Given the description of an element on the screen output the (x, y) to click on. 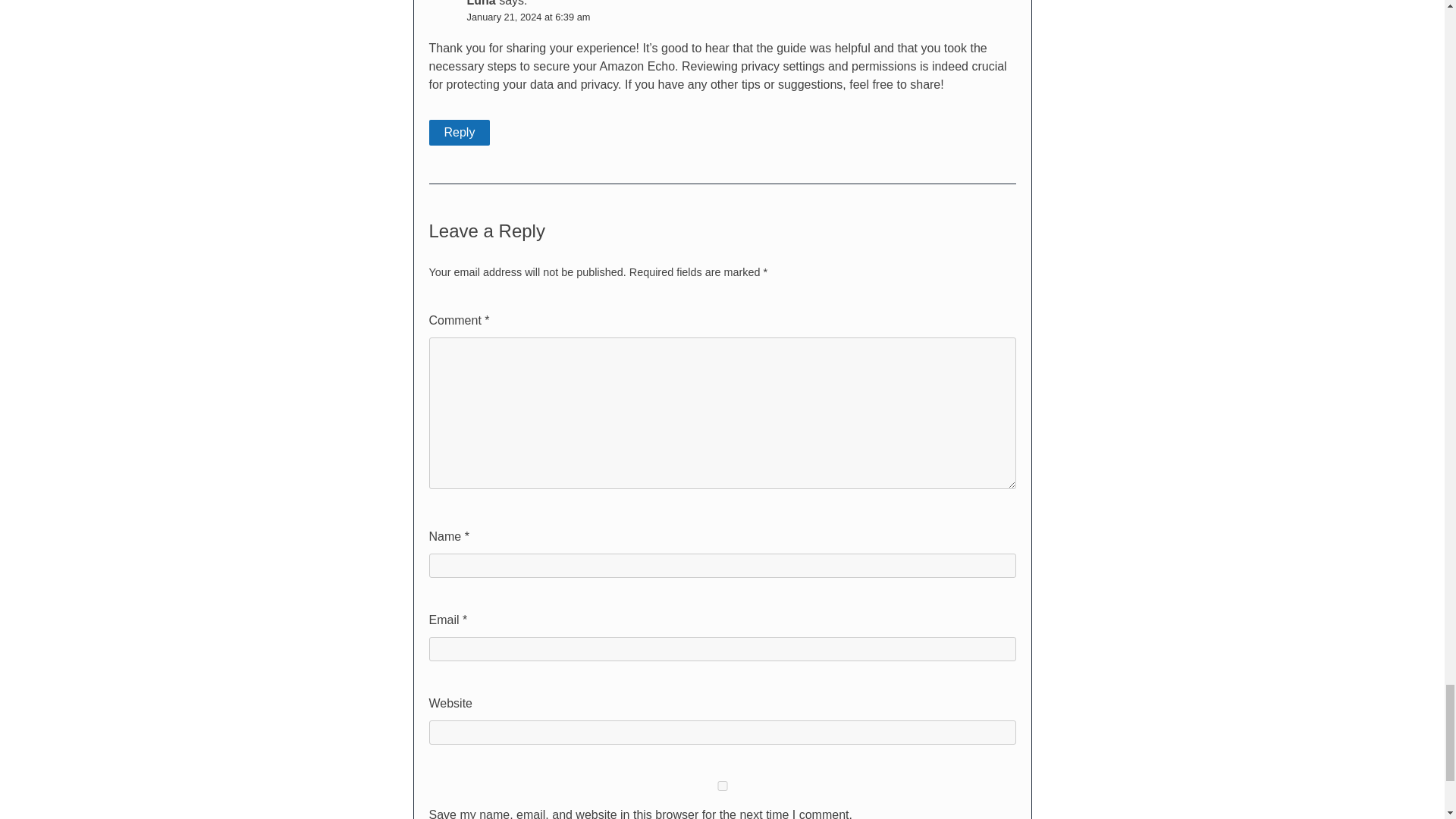
January 21, 2024 at 6:39 am (529, 16)
yes (722, 786)
Reply (459, 132)
